Given the description of an element on the screen output the (x, y) to click on. 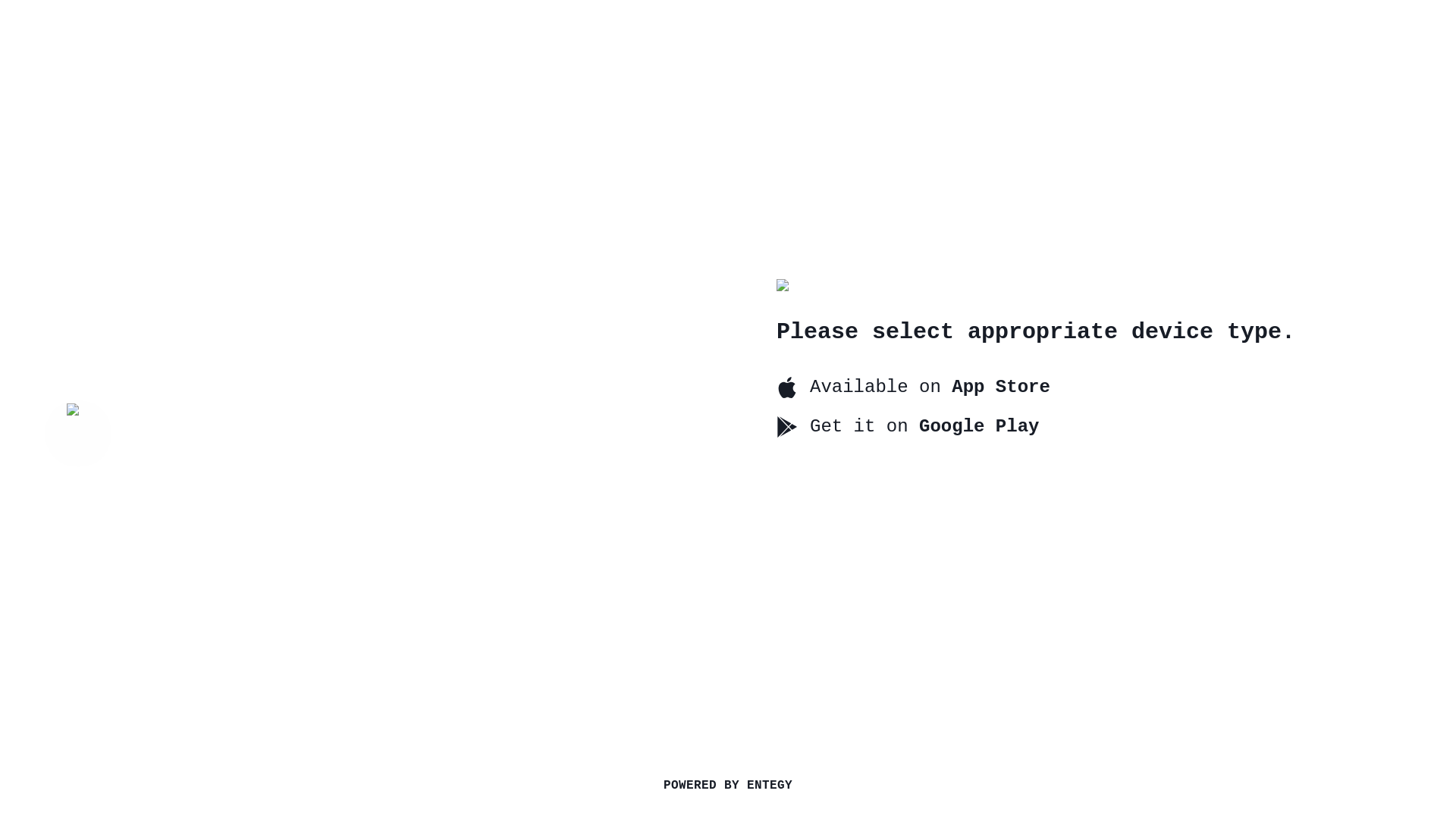
Available on App Store Element type: text (913, 386)
Get it on Google Play Element type: text (913, 425)
